Given the description of an element on the screen output the (x, y) to click on. 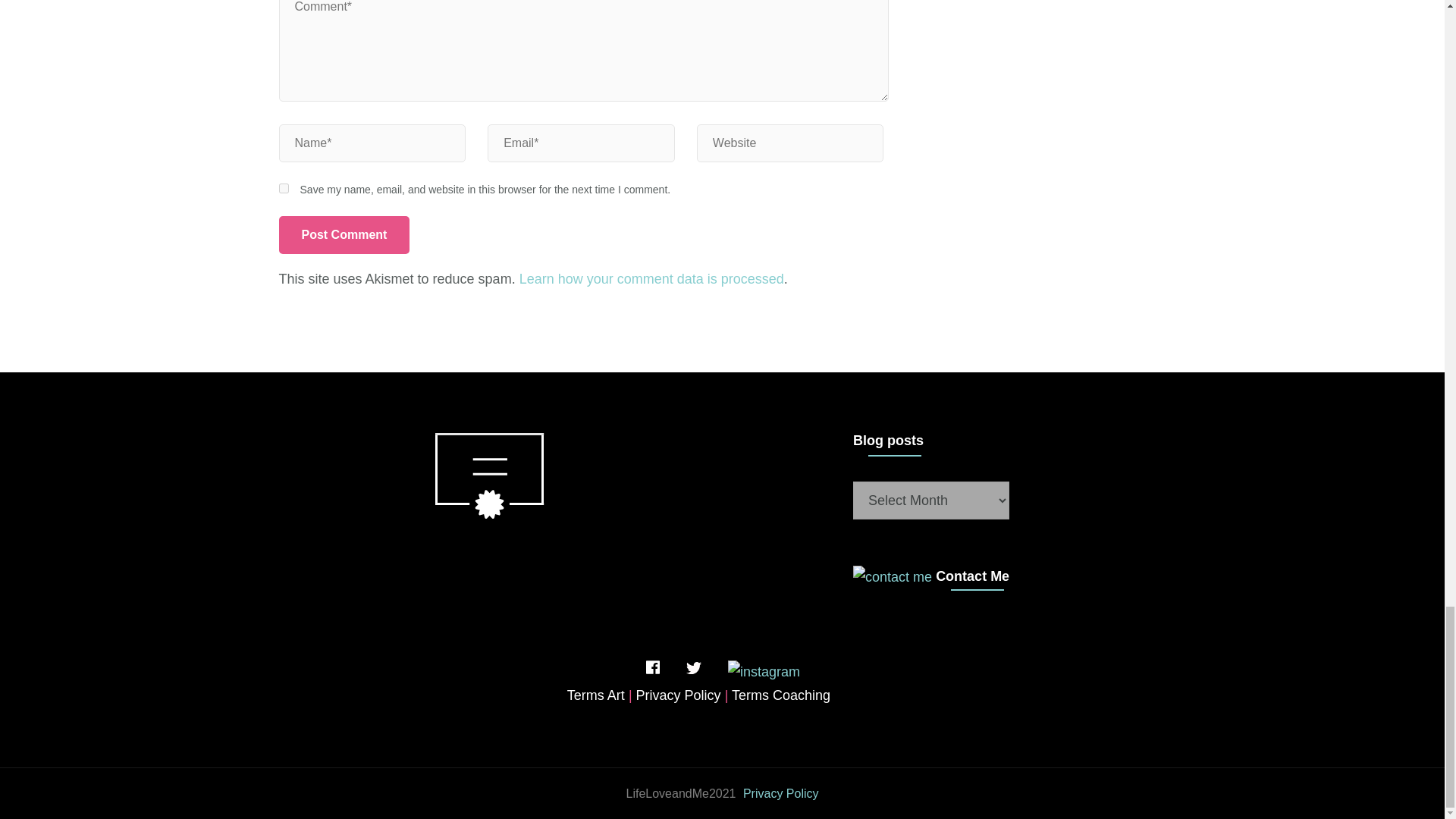
yes (283, 188)
Post Comment (344, 234)
